Given the description of an element on the screen output the (x, y) to click on. 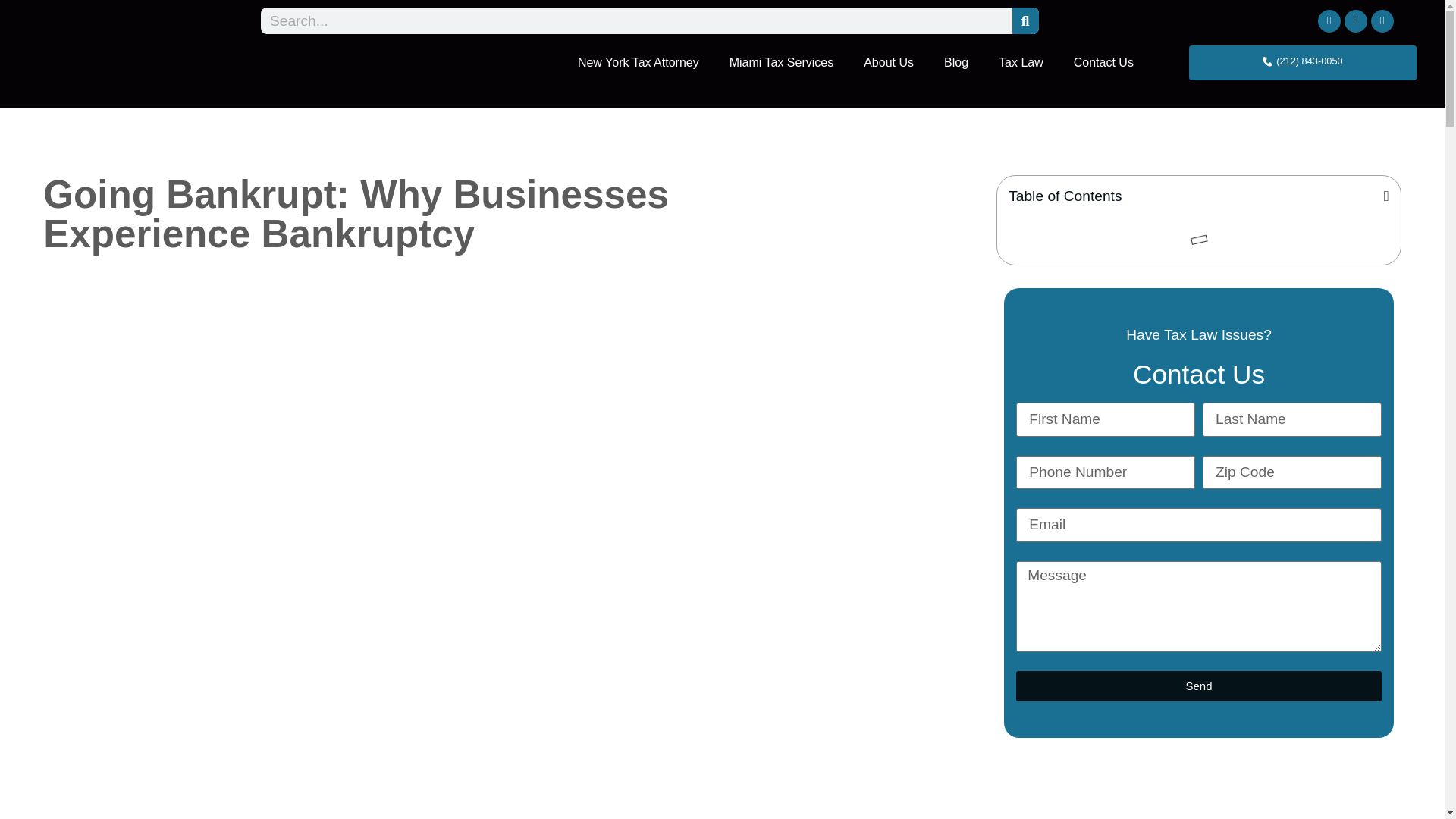
Contact Us (1103, 62)
New York Tax Attorney (638, 62)
About Us (888, 62)
Miami Tax Services (781, 62)
Blog (956, 62)
Tax Law (1021, 62)
